Given the description of an element on the screen output the (x, y) to click on. 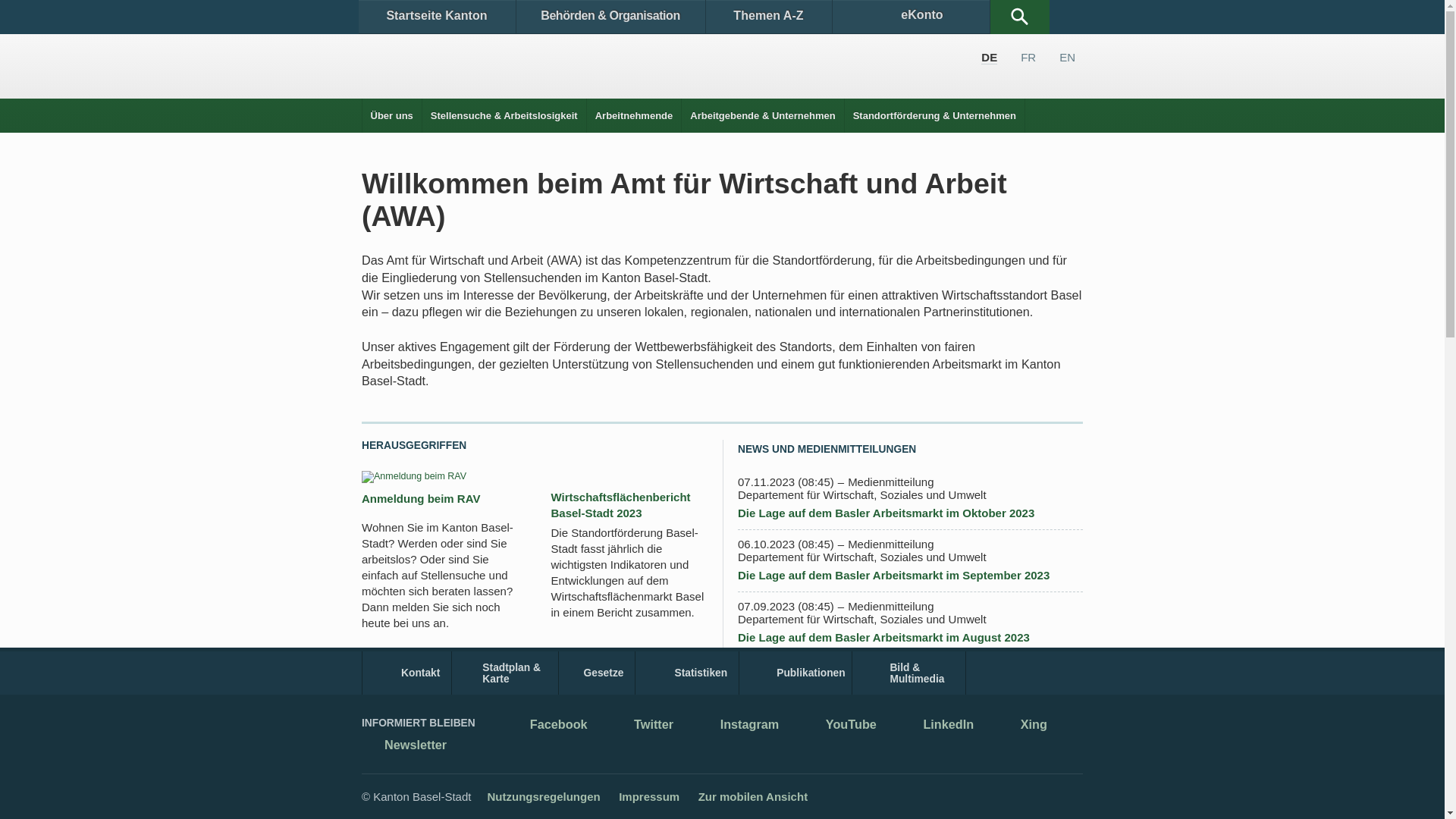
Stellensuche & Arbeitslosigkeit Element type: text (504, 115)
Newsletter Element type: text (403, 746)
Arbeitgebende & Unternehmen Element type: text (762, 115)
Arbeitnehmende Element type: text (633, 115)
Kontakt Element type: text (406, 672)
Facebook Element type: text (547, 725)
YouTube Element type: text (839, 725)
Xing Element type: text (1022, 725)
Die Lage auf dem Basler Arbeitsmarkt im September 2023 Element type: text (893, 574)
eKonto Element type: text (910, 17)
Die Lage auf dem Basler Arbeitsmarkt im Juli 2023 Element type: text (873, 699)
Nutzungsregelungen Element type: text (542, 796)
Startseite Kanton Element type: text (435, 17)
Ein Jahr kantonaler Mindestlohn Basel-Stadt Element type: text (858, 761)
Die Lage auf dem Basler Arbeitsmarkt im Oktober 2023 Element type: text (885, 512)
Themen A-Z Element type: text (768, 17)
FR Element type: text (1027, 56)
Das RAV Basel-Stadt am HR-Festival 2023 Element type: text (628, 694)
Gesetze Element type: text (597, 672)
Publikationen Element type: text (795, 672)
EN Element type: text (1067, 56)
Anmeldung beim RAV Element type: text (420, 498)
Zur mobilen Ansicht Element type: text (752, 796)
Instagram Element type: text (738, 725)
Stadtplan & Karte Element type: text (504, 672)
Impressum Element type: text (648, 796)
Twitter Element type: text (642, 725)
Statistiken Element type: text (687, 672)
Bild & Multimedia Element type: text (908, 672)
Die Lage auf dem Basler Arbeitsmarkt im August 2023 Element type: text (883, 636)
LinkedIn Element type: text (936, 725)
